Given the description of an element on the screen output the (x, y) to click on. 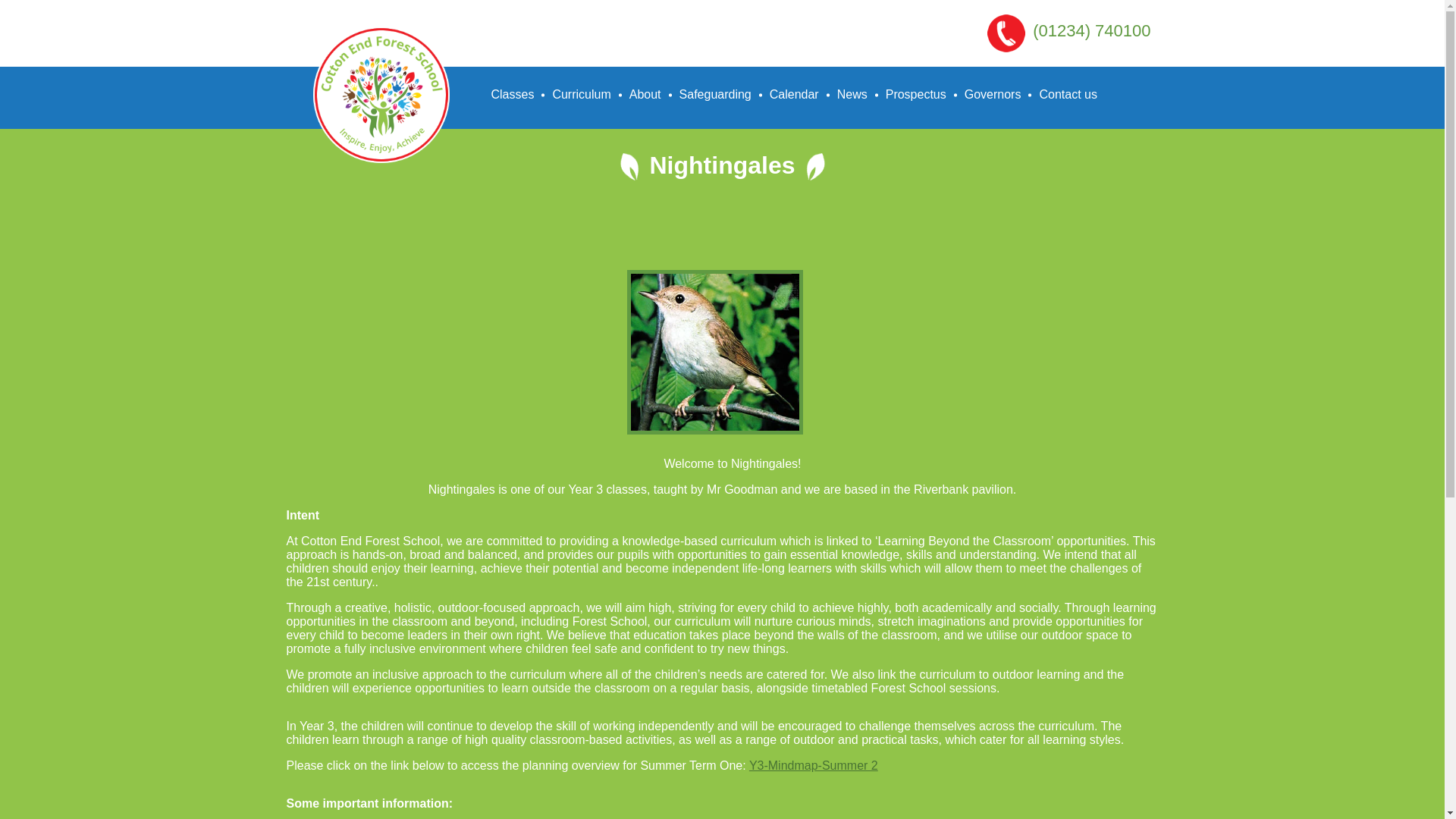
Prospectus (915, 94)
Curriculum (580, 94)
Calendar (794, 94)
News (852, 94)
Governors (992, 94)
About (644, 94)
Classes (513, 94)
Safeguarding (715, 94)
